Given the description of an element on the screen output the (x, y) to click on. 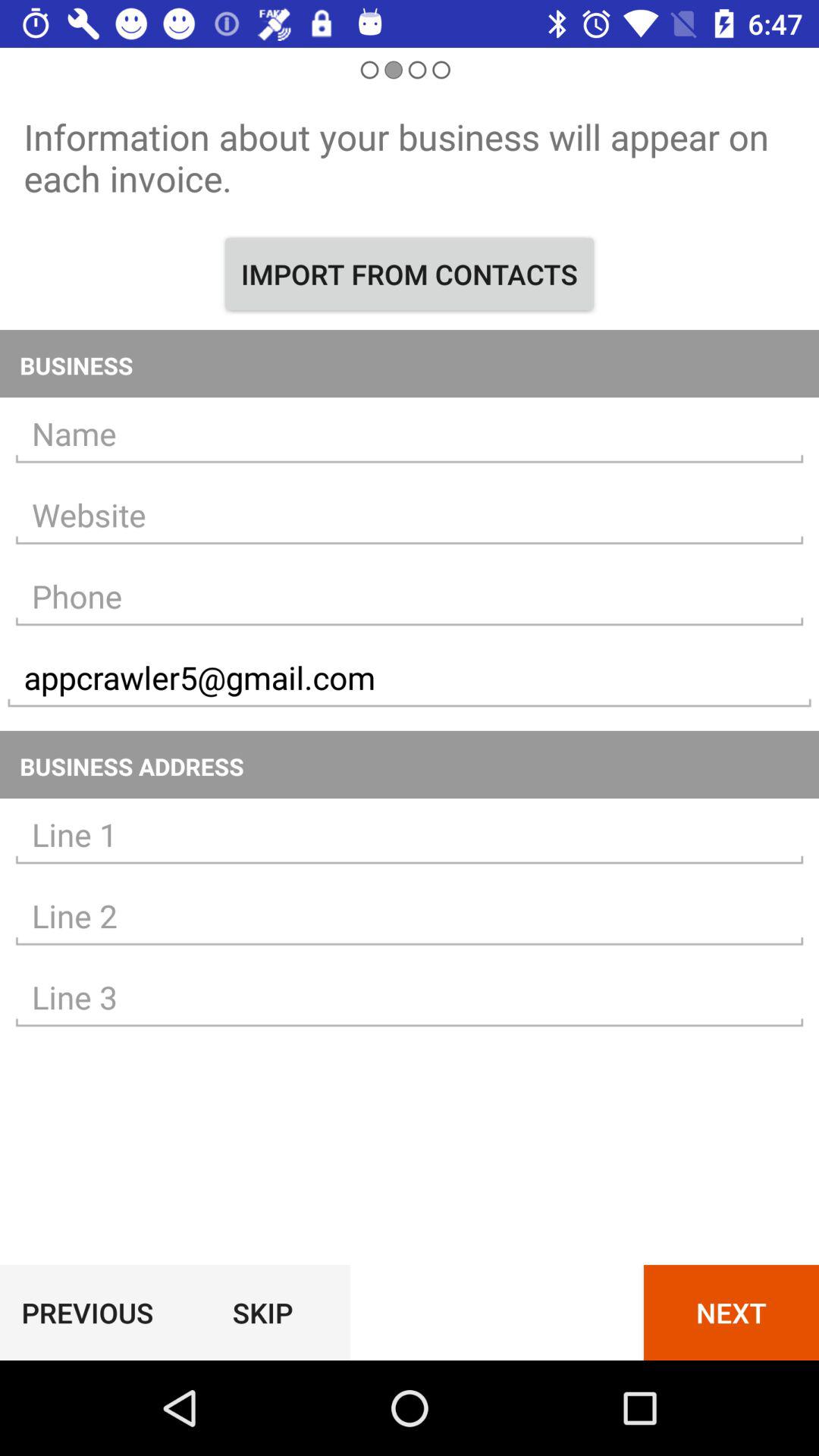
open the next (731, 1312)
